Given the description of an element on the screen output the (x, y) to click on. 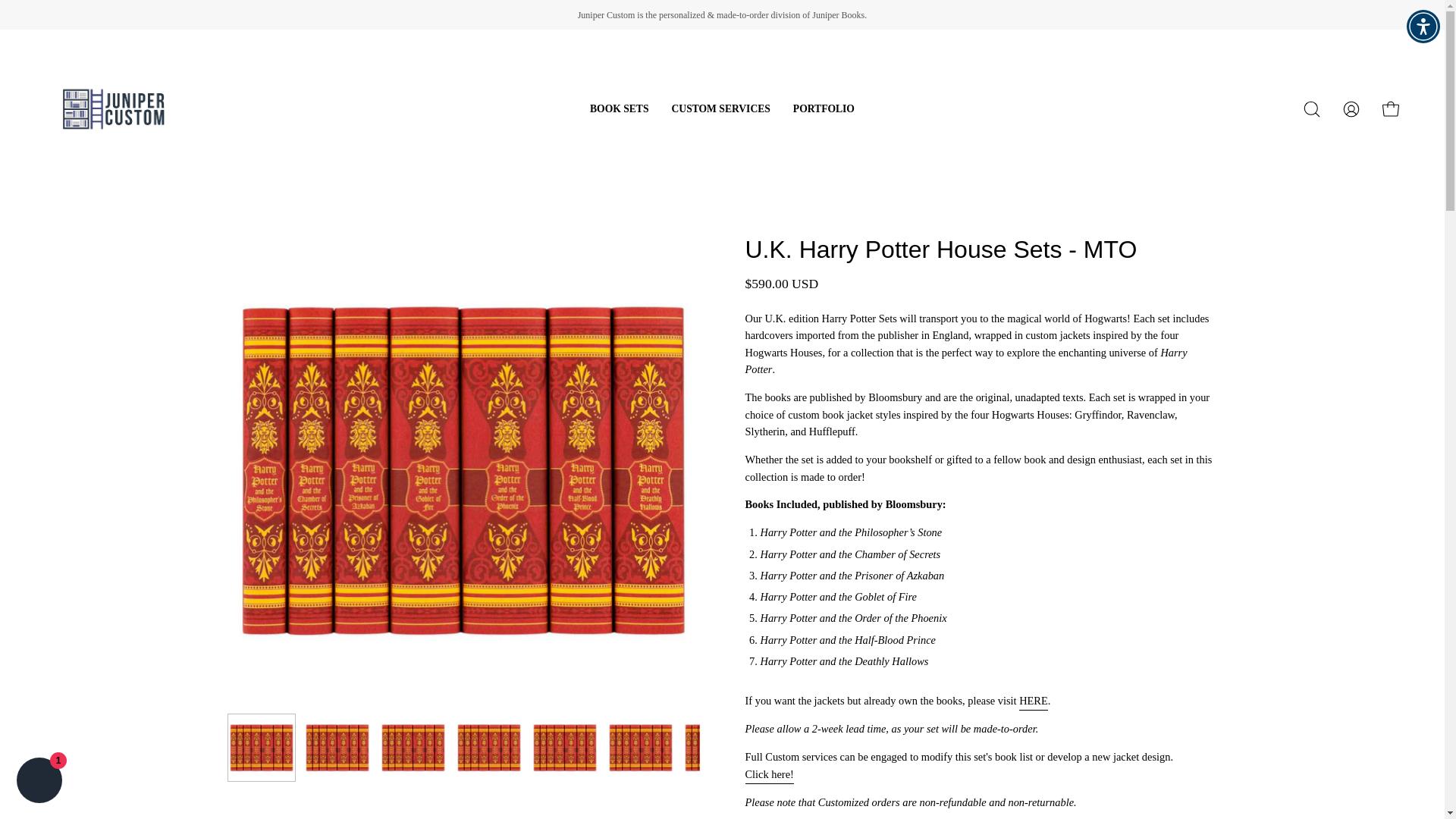
British UK Edition Harry Potter Sets Jackets Only MTO (1033, 701)
Accessibility Menu (1422, 26)
Open search bar (1311, 109)
